Given the description of an element on the screen output the (x, y) to click on. 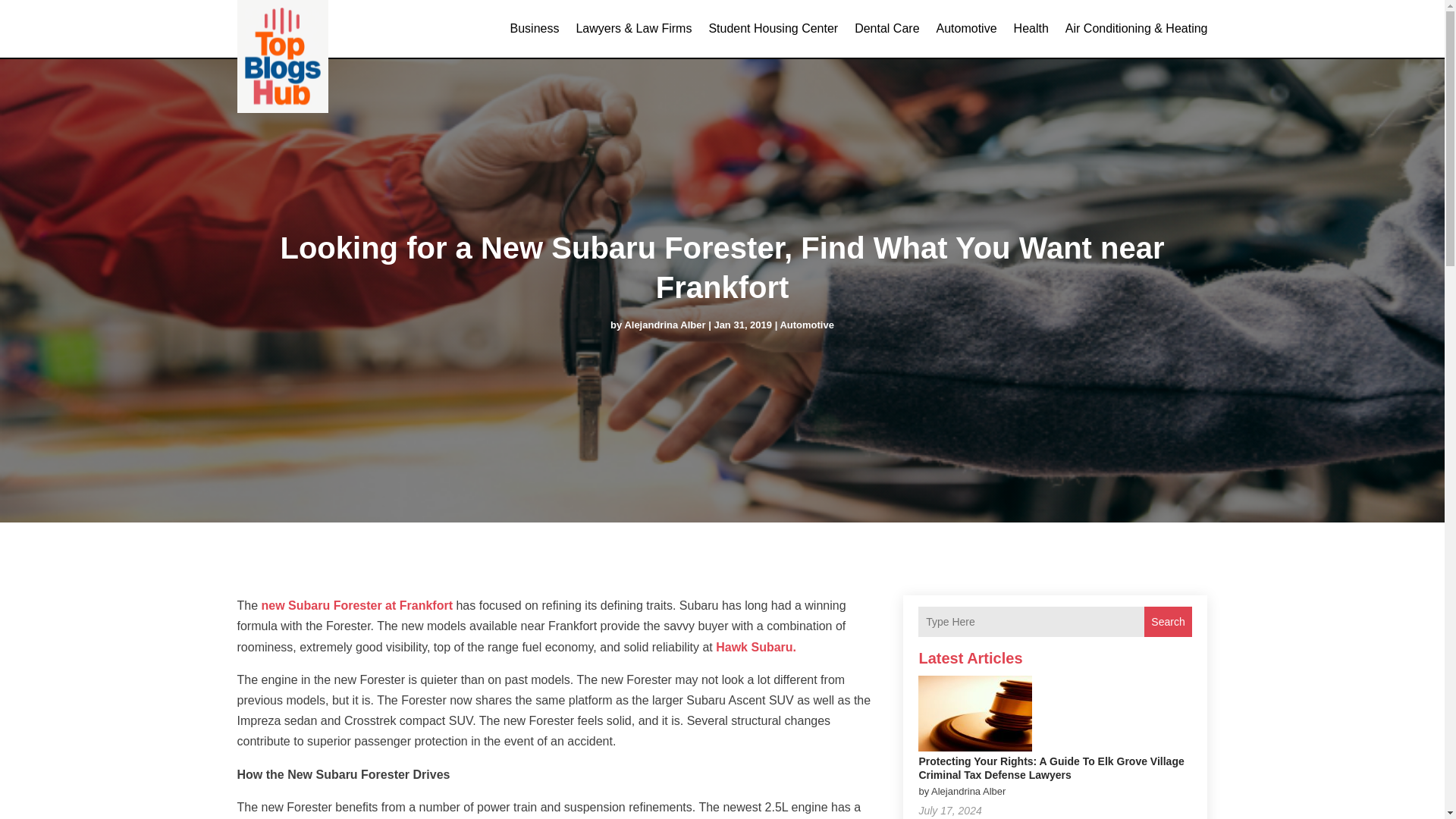
Automotive (966, 28)
Dental Care (886, 28)
Automotive (806, 324)
Student Housing Center (772, 28)
Posts by Alejandrina Alber (664, 324)
new Subaru Forester at Frankfort (357, 604)
Alejandrina Alber (664, 324)
Hawk Subaru. (756, 646)
Search (1168, 621)
